Given the description of an element on the screen output the (x, y) to click on. 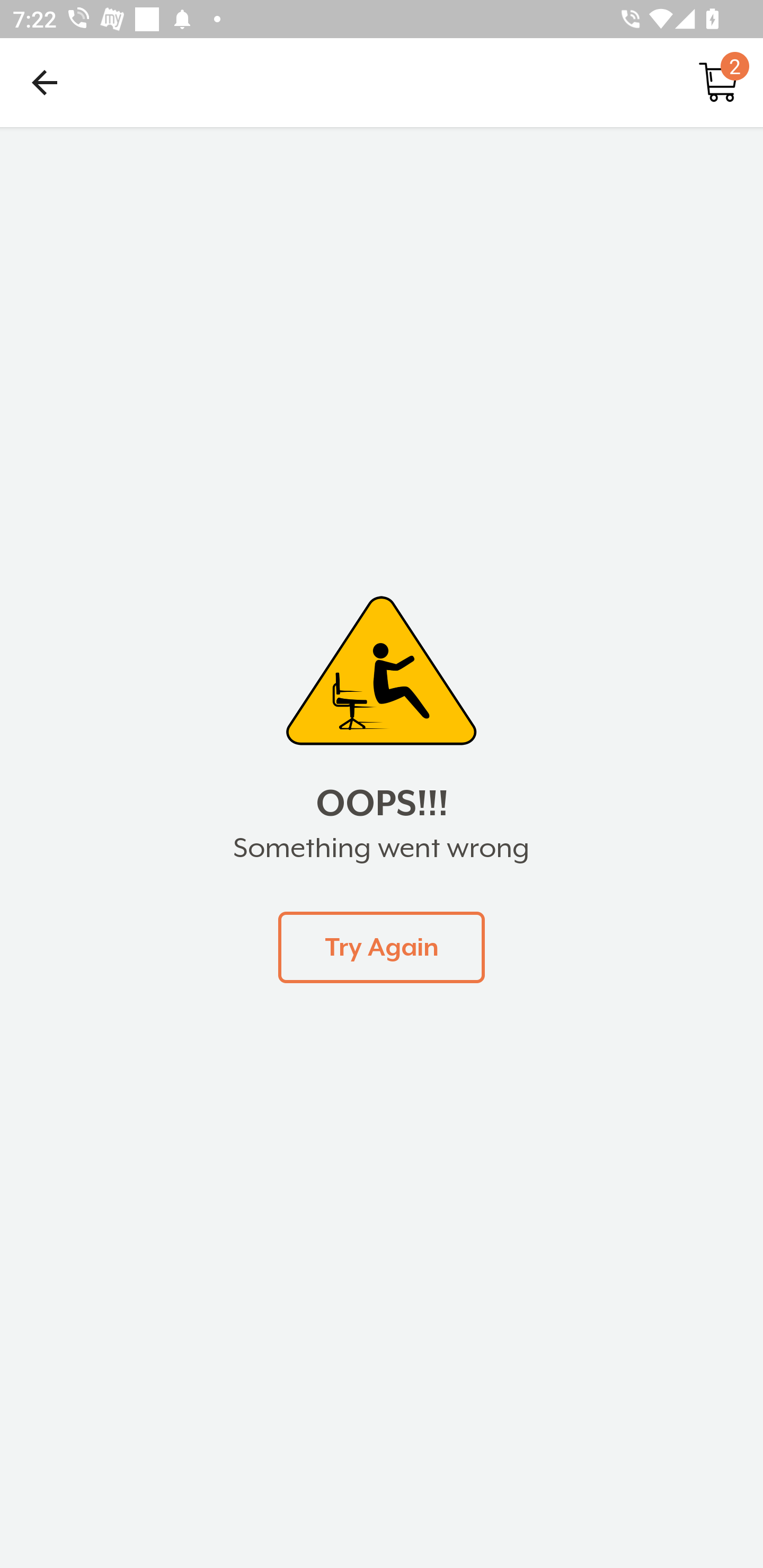
Navigate up (44, 82)
Cart (718, 81)
Try Again (381, 947)
